Given the description of an element on the screen output the (x, y) to click on. 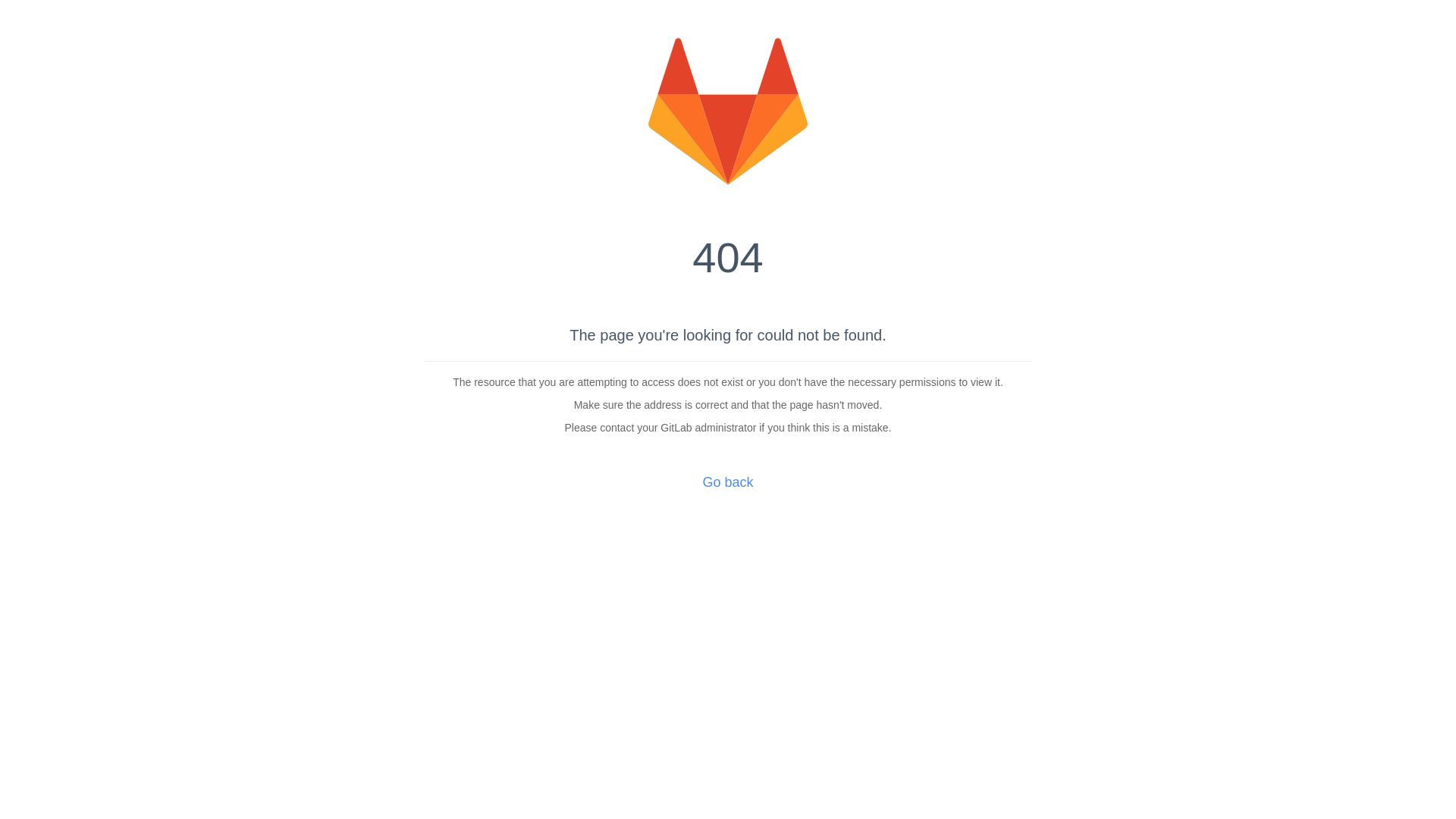
Go back Element type: text (727, 481)
